Given the description of an element on the screen output the (x, y) to click on. 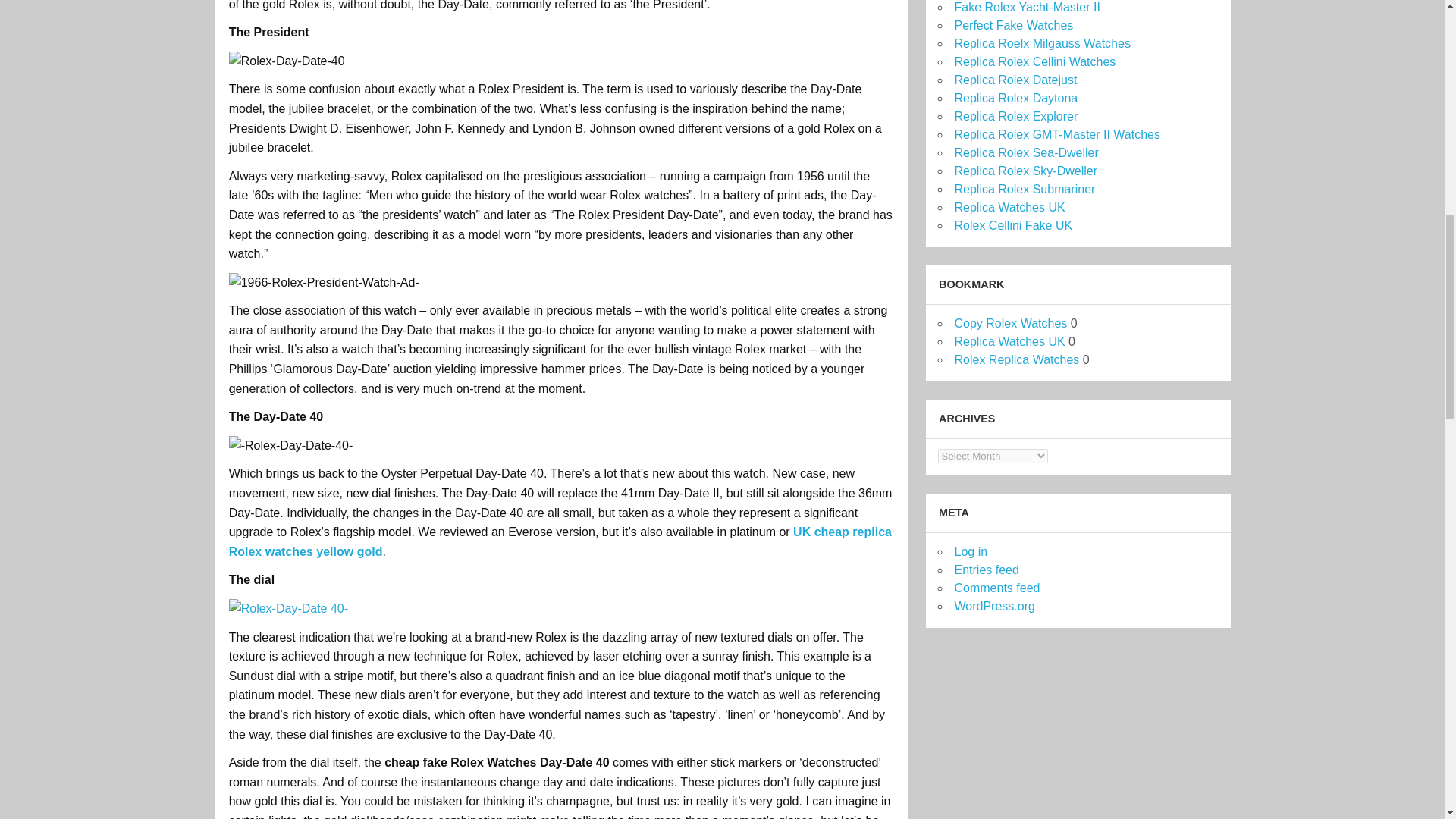
Replica Rolex Explorer (1015, 115)
Replica Rolex Datejust (1015, 79)
Replica Rolex Submariner (1023, 188)
Replica Rolex Daytona (1015, 97)
Perfect Fake Watches (1013, 24)
Replica Rolex GMT-Master II Watches (1055, 133)
Replica Rolex Sky-Dweller (1025, 170)
UK cheap replica Rolex watches yellow gold (559, 541)
Fake Rolex Yacht-Master II (1026, 6)
Replica Rolex Cellini Watches (1034, 61)
Replica Watches UK (1008, 206)
Replica Roelx Milgauss Watches (1041, 42)
Rolex Cellini Fake UK (1012, 225)
Replica Rolex Sea-Dweller (1025, 152)
